Given the description of an element on the screen output the (x, y) to click on. 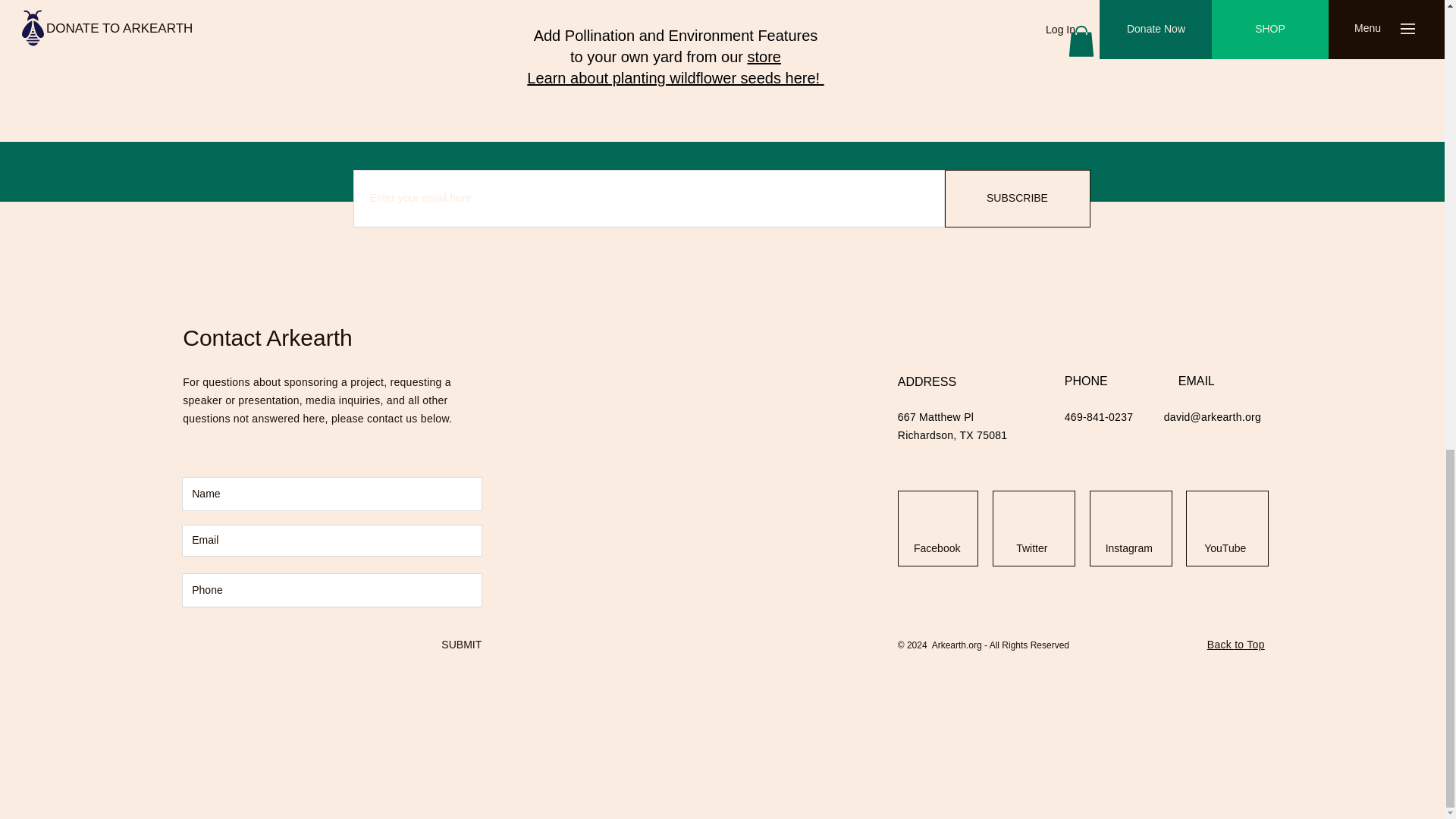
Instagram (1128, 548)
SUBMIT (460, 644)
Twitter (1031, 548)
Facebook (936, 548)
SUBSCRIBE (1017, 198)
YouTube (1224, 548)
Back to Top (1236, 644)
